Given the description of an element on the screen output the (x, y) to click on. 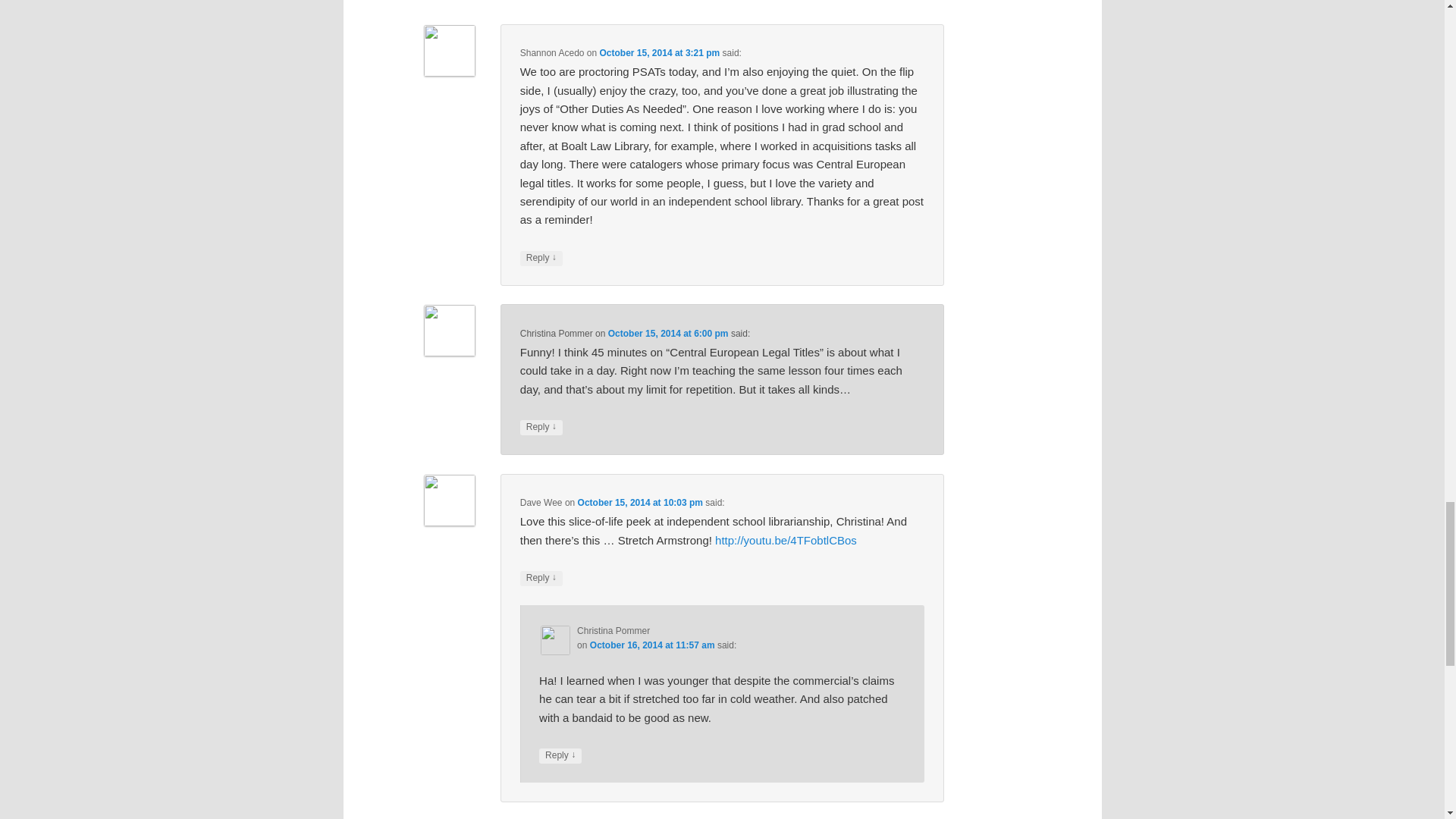
October 15, 2014 at 3:21 pm (658, 52)
October 15, 2014 at 6:00 pm (668, 333)
October 15, 2014 at 10:03 pm (640, 502)
October 16, 2014 at 11:57 am (651, 644)
